Given the description of an element on the screen output the (x, y) to click on. 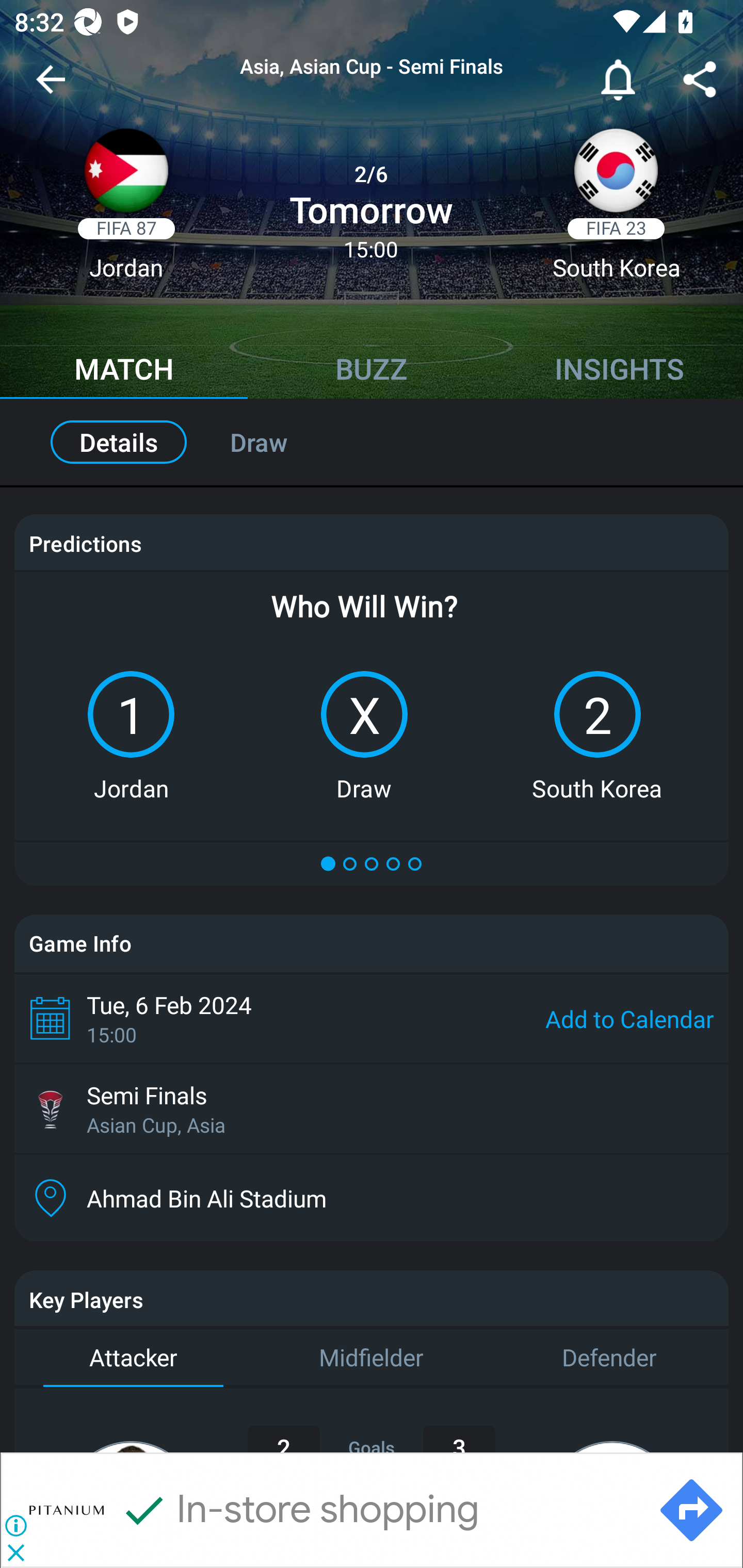
Navigate up (50, 86)
Asia, Asian Cup - Semi Finals (371, 66)
Share (699, 82)
FIFA 87 Jordan (126, 210)
FIFA 23 South Korea (616, 210)
MATCH (123, 371)
BUZZ (371, 371)
INSIGHTS (619, 371)
Draw (280, 442)
Predictions (85, 544)
1 (130, 714)
X (363, 714)
2 (597, 714)
Game Info (371, 943)
Tue, 6 Feb 2024 15:00 Add to Calendar (371, 1018)
Semi Finals Asian Cup, Asia (371, 1108)
Ahmad Bin Ali Stadium (371, 1198)
Midfielder (371, 1358)
Defender (609, 1358)
超瘋狂預購 48小時 Pitanium MOKO (379, 1509)
In-store shopping (298, 1510)
